Given the description of an element on the screen output the (x, y) to click on. 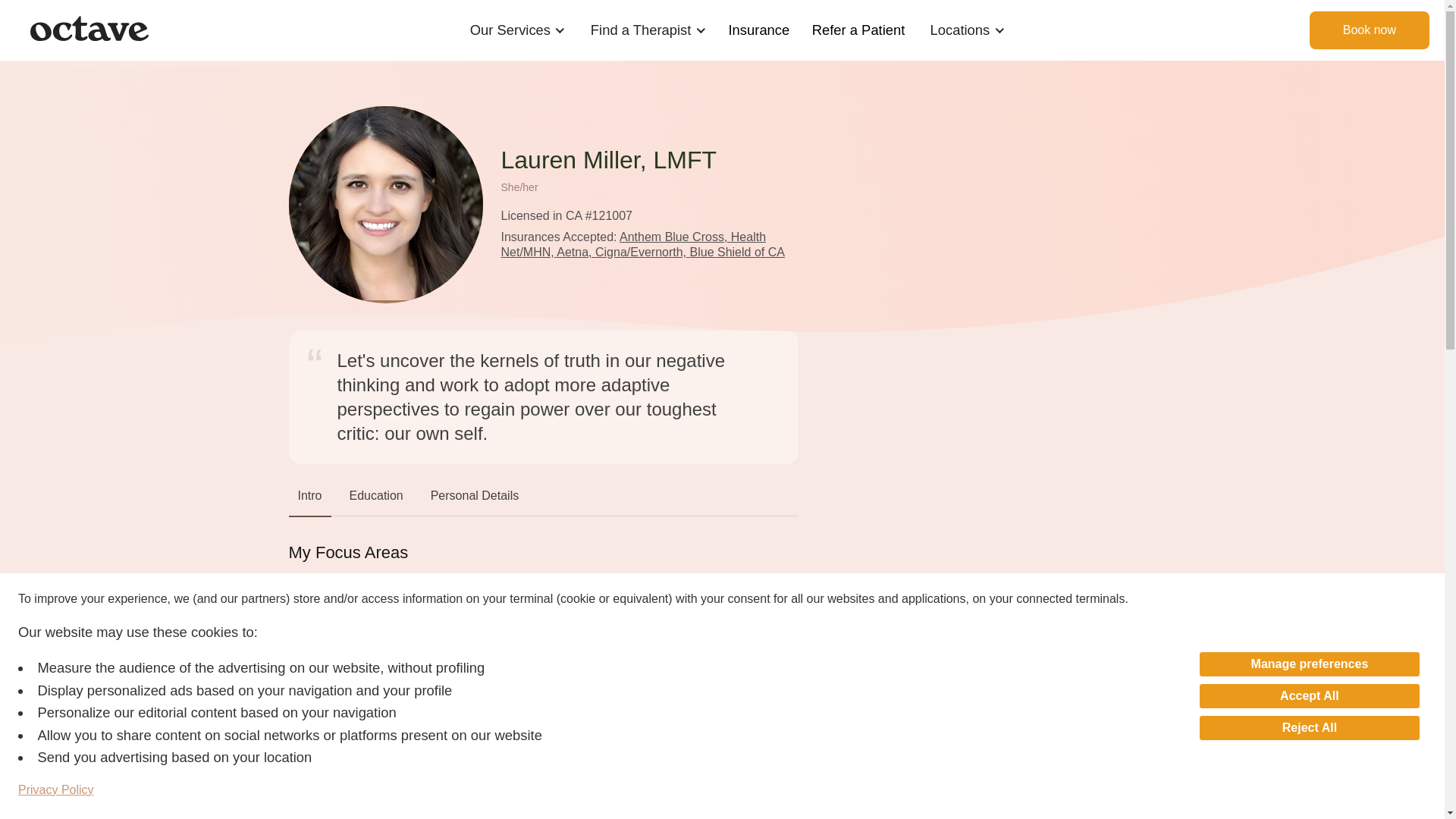
Our Services (509, 29)
Depression, (548, 587)
Personal Details (475, 498)
Anxiety, (315, 587)
Stress, (389, 609)
Insurance (758, 29)
Locations (959, 29)
Accept All (1309, 696)
Anthem Blue Cross, (675, 236)
Life Transitions, (519, 598)
